Given the description of an element on the screen output the (x, y) to click on. 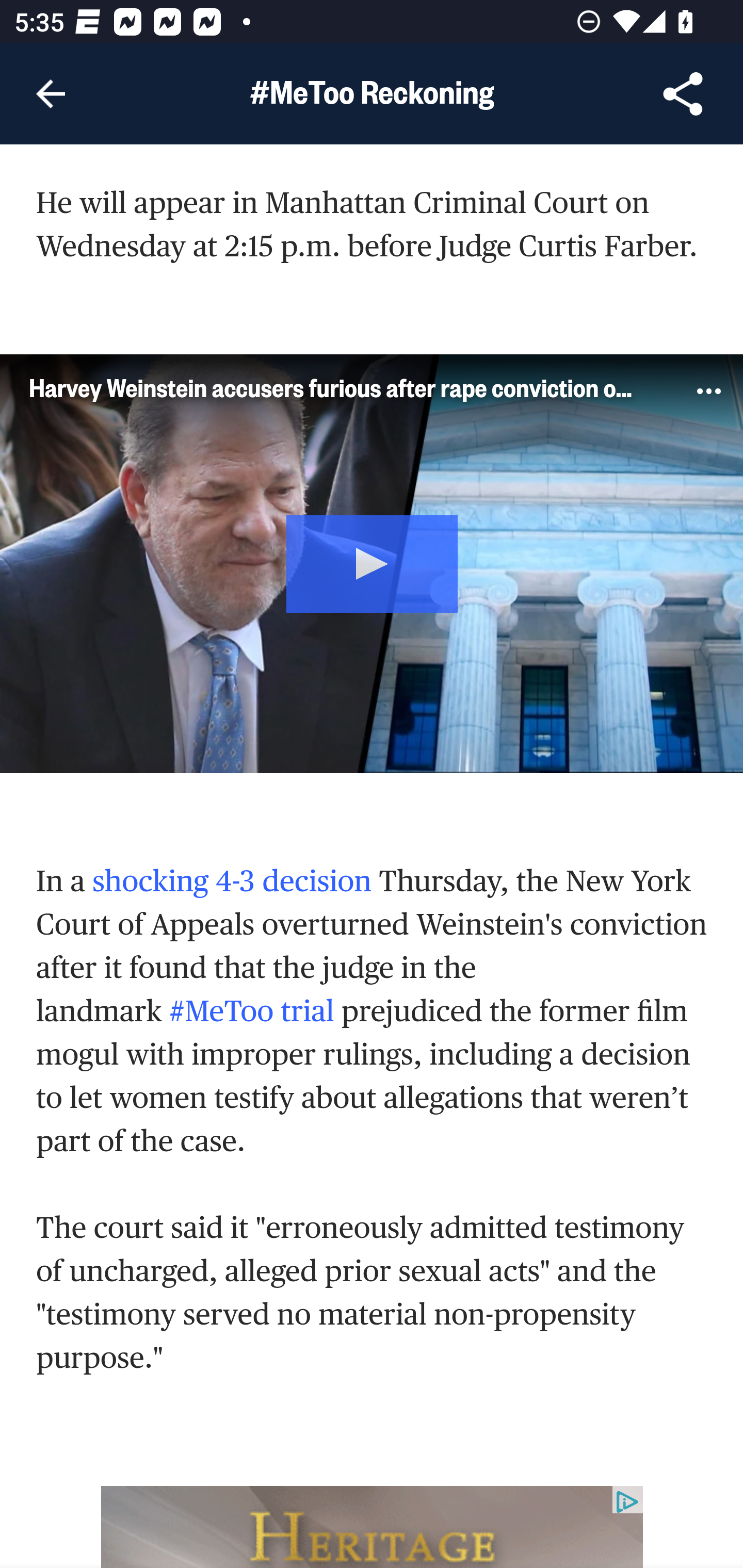
Navigate up (50, 93)
Share Article, button (683, 94)
Video Player Unable to play media. Play   (371, 564)
Play (372, 561)
shocking 4-3 decision (232, 880)
#MeToo trial (251, 1010)
adchoices (626, 1501)
